Given the description of an element on the screen output the (x, y) to click on. 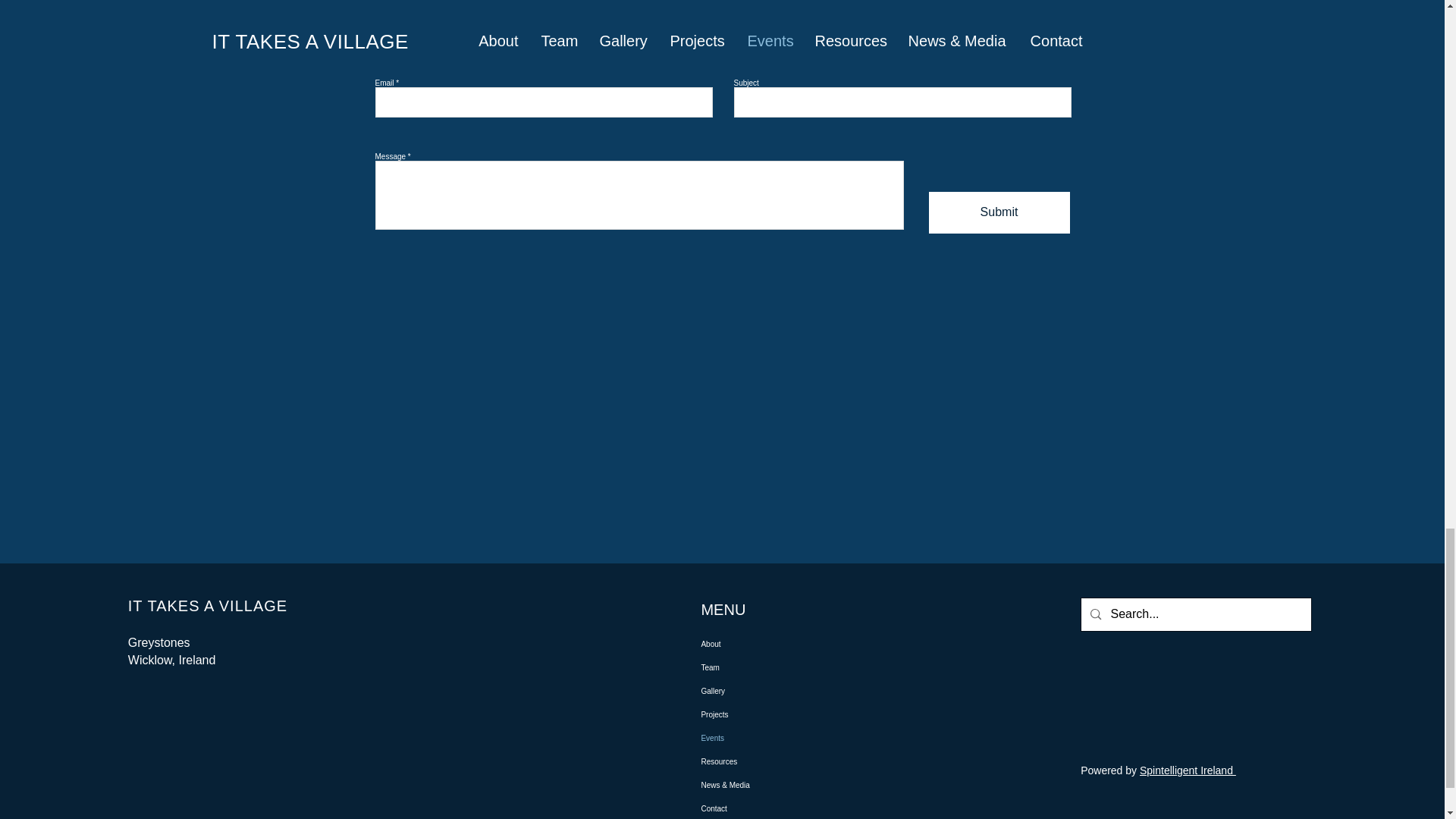
Gallery (770, 690)
Spintelligent Ireland  (1188, 770)
About (770, 644)
Resources (770, 761)
IT TAKES A VILLAGE (207, 605)
Submit (998, 212)
Projects (770, 714)
Events (770, 738)
Team (770, 667)
Contact (770, 807)
